Given the description of an element on the screen output the (x, y) to click on. 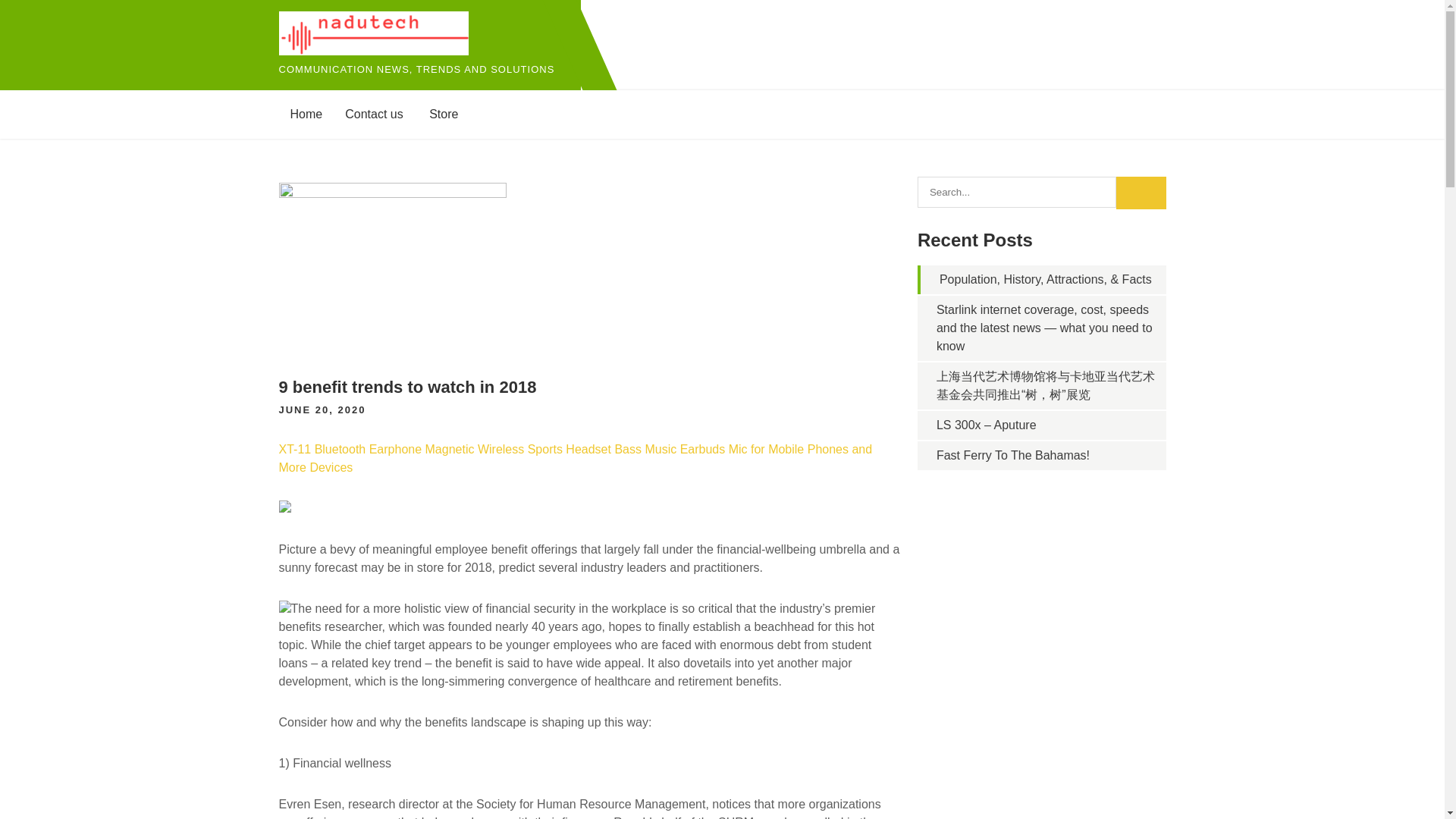
Contact us (373, 114)
Search (1141, 192)
Home (306, 114)
Search (1141, 192)
Search (1141, 192)
Store (442, 114)
Fast Ferry To The Bahamas! (1012, 454)
